Given the description of an element on the screen output the (x, y) to click on. 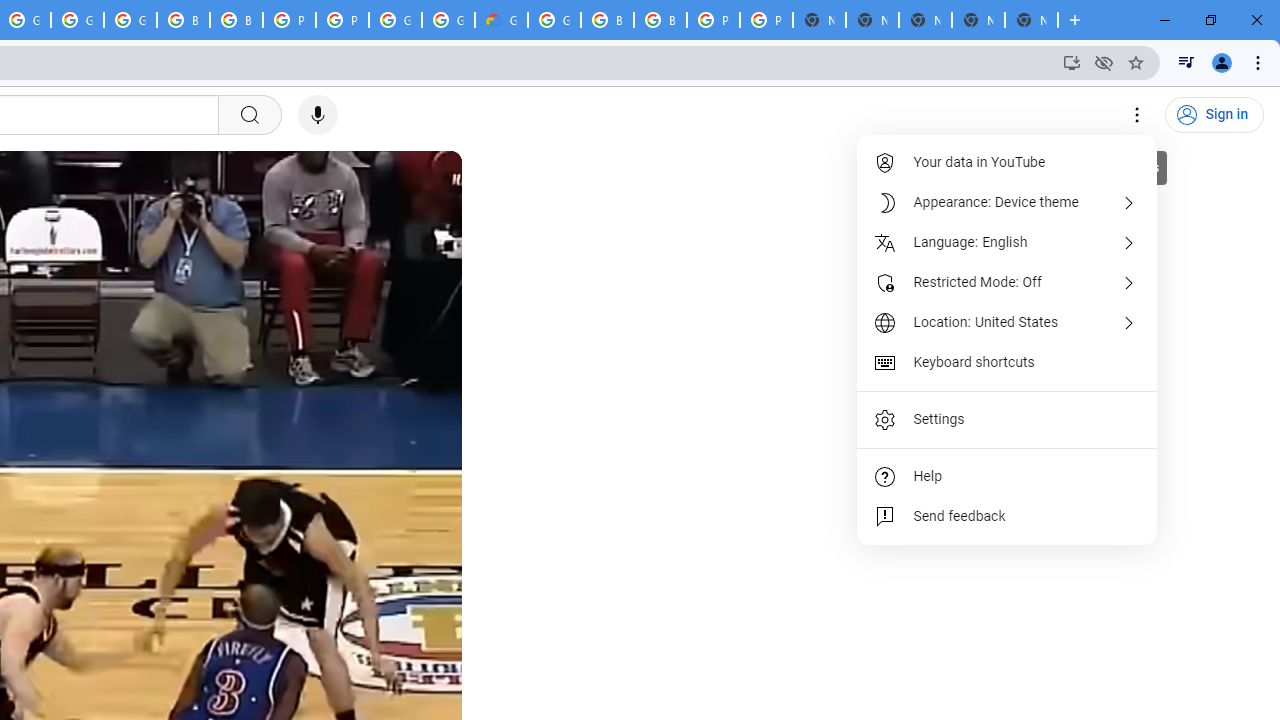
Browse Chrome as a guest - Computer - Google Chrome Help (607, 20)
New Tab (1031, 20)
Language: English (1007, 242)
Install YouTube (1071, 62)
Search with your voice (317, 115)
Google Cloud Platform (448, 20)
Location: United States (1007, 322)
